Given the description of an element on the screen output the (x, y) to click on. 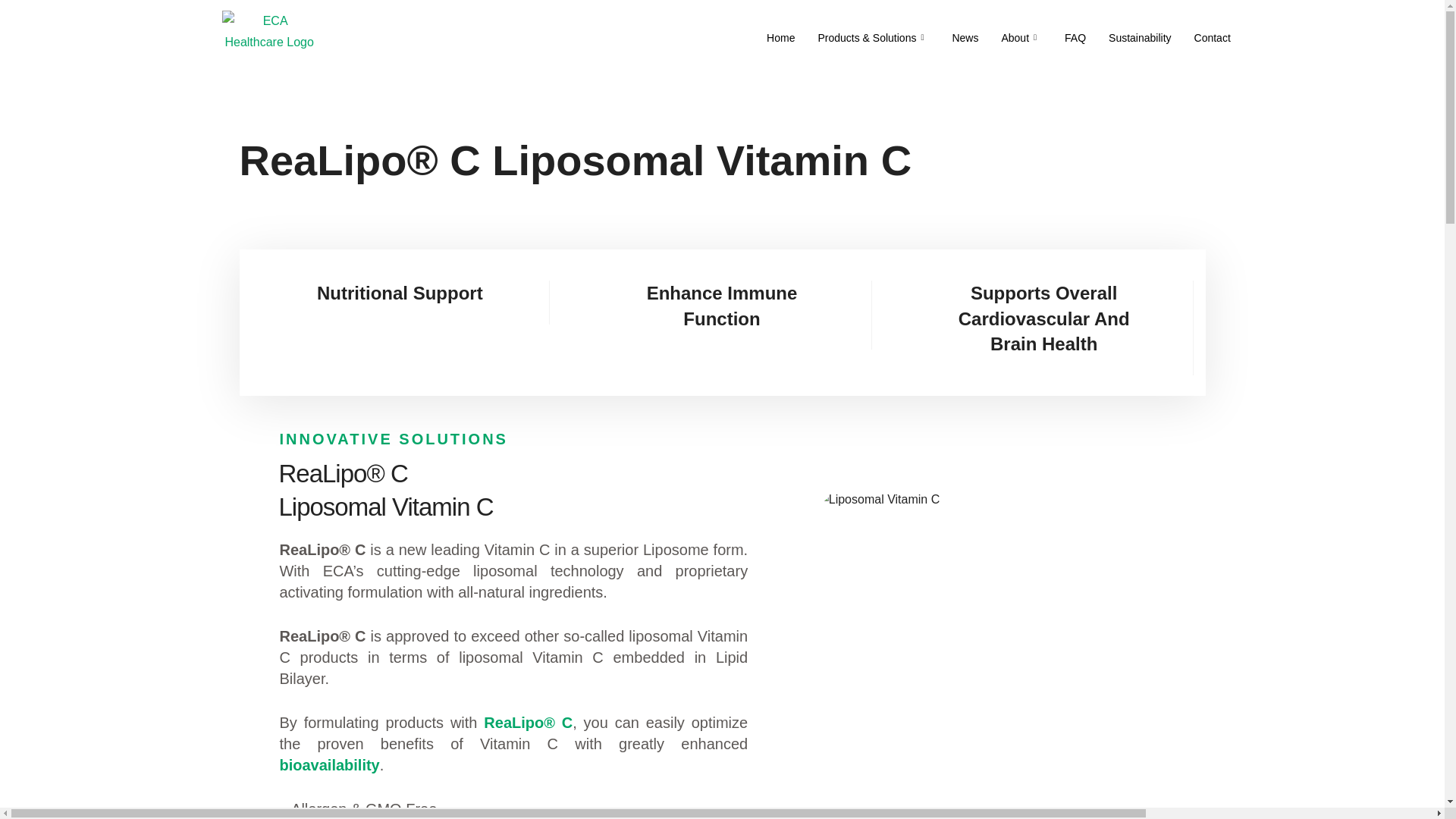
Sustainability (1139, 37)
About (1021, 37)
Contact (1211, 37)
